Given the description of an element on the screen output the (x, y) to click on. 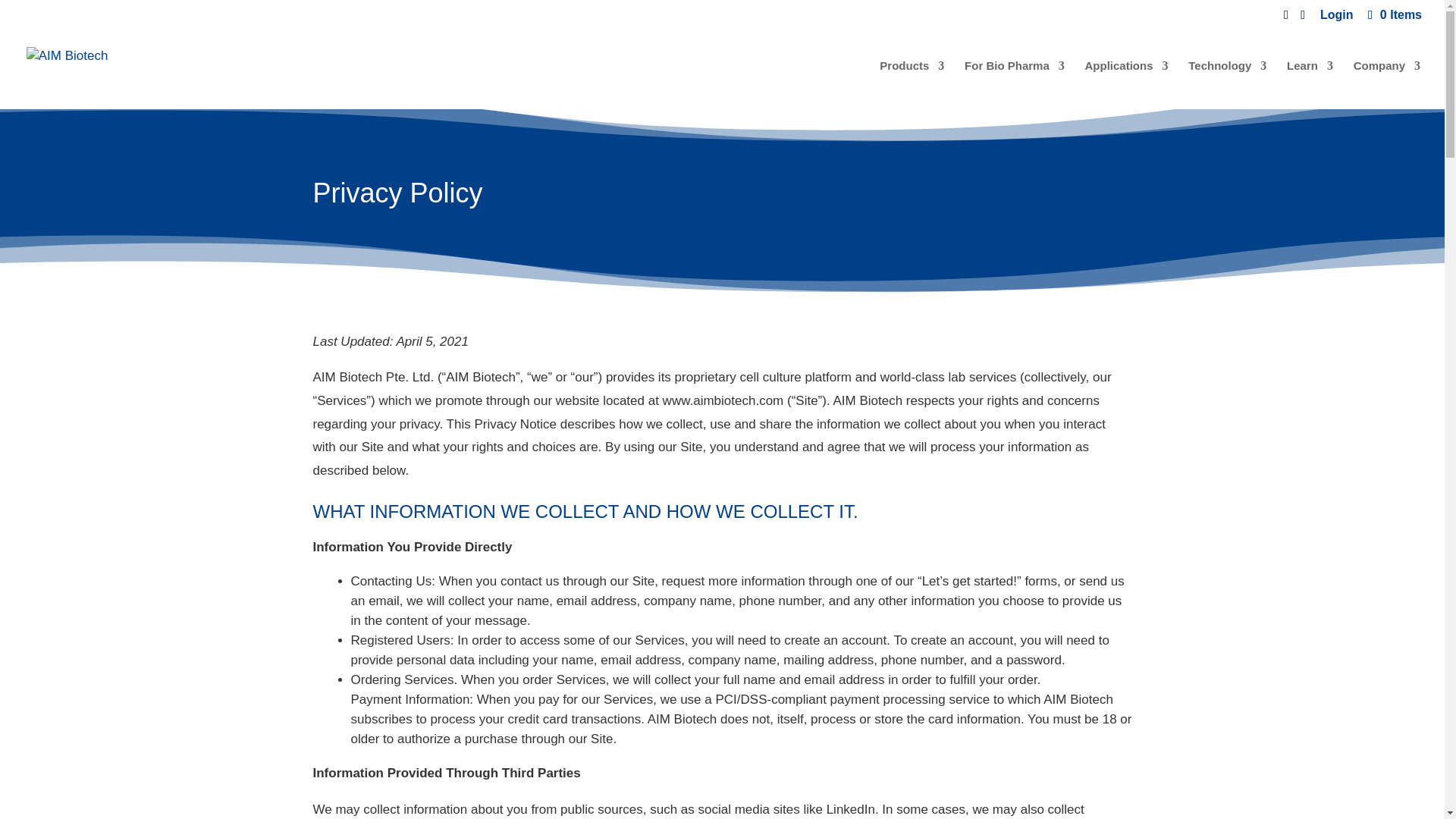
Applications (1126, 84)
Company (1387, 84)
Products (911, 84)
0 Items (1393, 14)
For Bio Pharma (1013, 84)
Technology (1227, 84)
Learn (1310, 84)
Login (1337, 19)
